Given the description of an element on the screen output the (x, y) to click on. 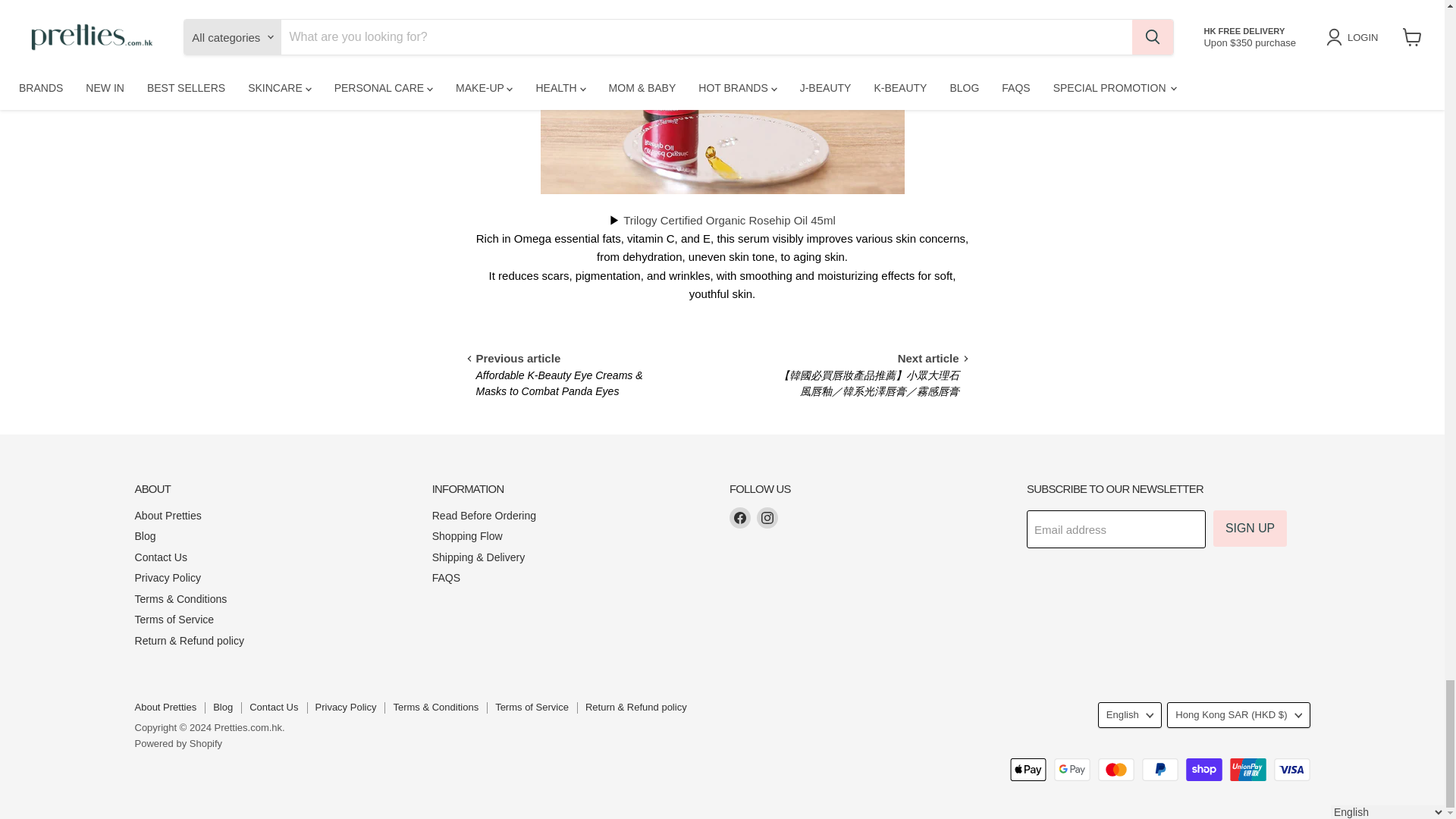
Instagram (767, 517)
Facebook (740, 517)
Trilogy Certified Organic Rosehip Oil 45ml (729, 219)
